Given the description of an element on the screen output the (x, y) to click on. 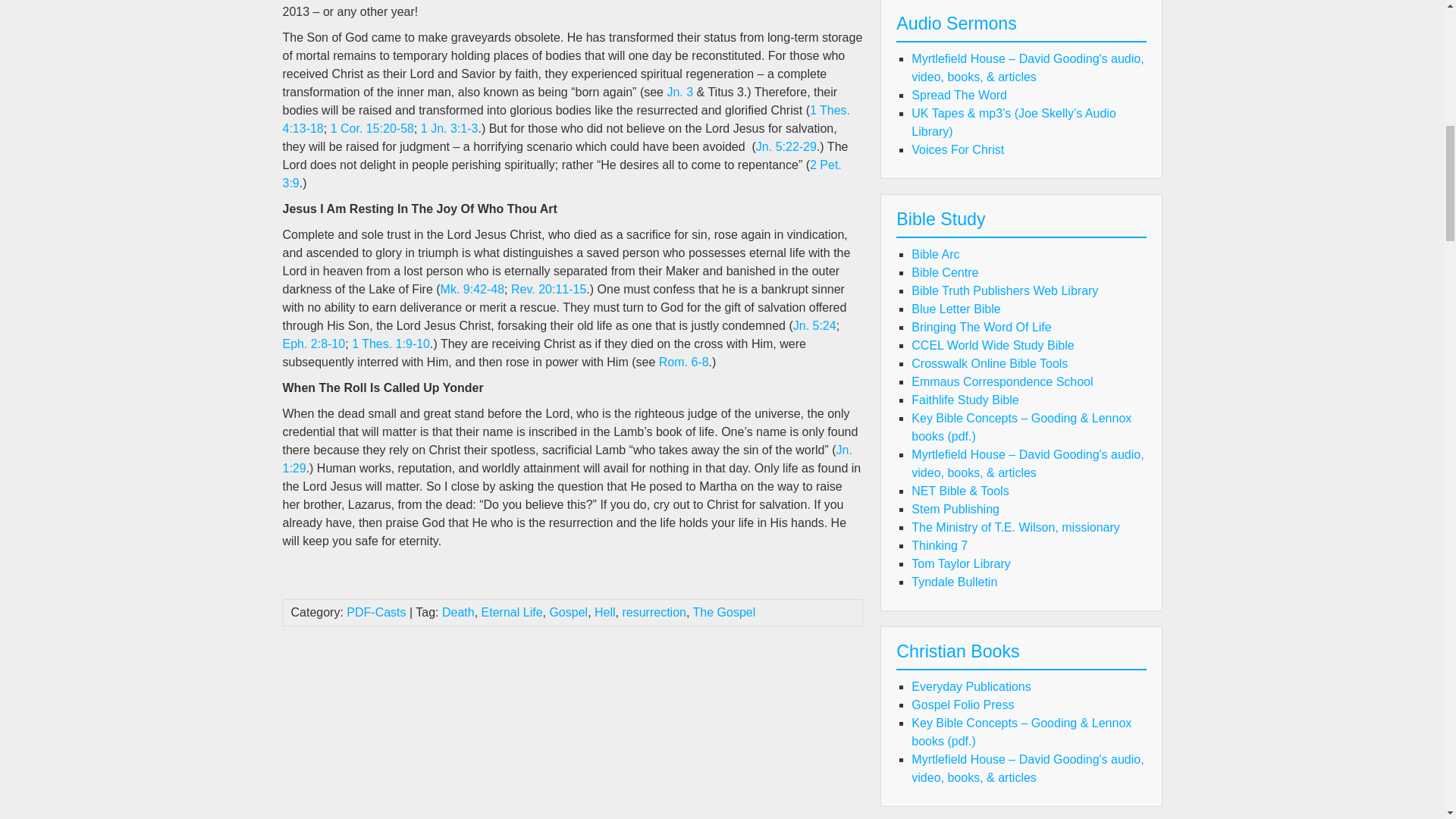
MP3 Sermons (957, 149)
Eph. 2:8-10 (313, 343)
The Gospel (724, 612)
Jn. 5:22-29 (785, 146)
Death (458, 612)
resurrection (653, 612)
Good Online Bible study tools (935, 254)
2 Pet. 3:9 (561, 173)
Eternal Life (512, 612)
1 Thes. 4:13-18 (566, 119)
